Given the description of an element on the screen output the (x, y) to click on. 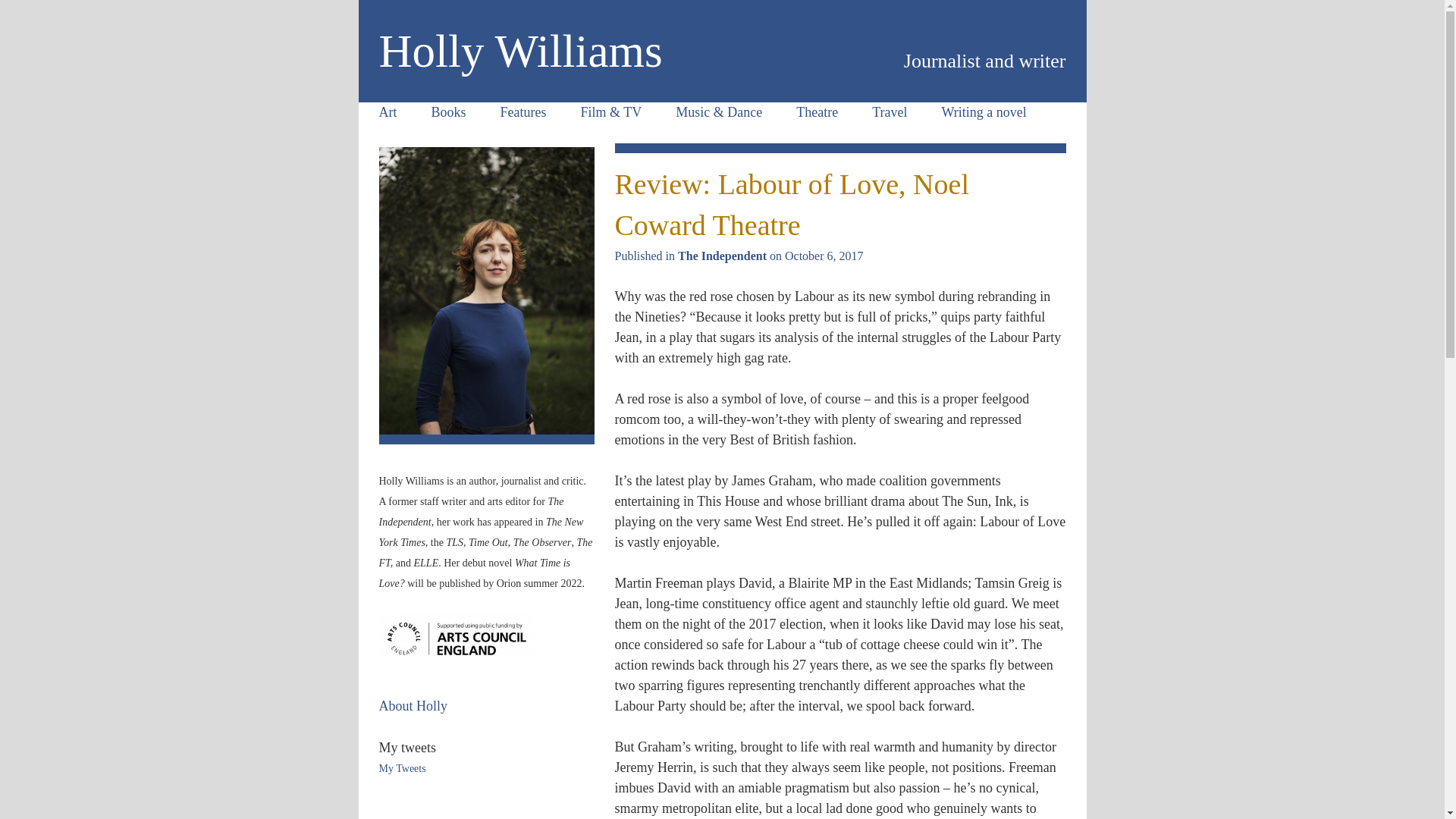
Holly Williams (520, 50)
My Tweets (402, 767)
Books (449, 112)
Features (523, 112)
Art (387, 112)
About Holly (413, 705)
